Given the description of an element on the screen output the (x, y) to click on. 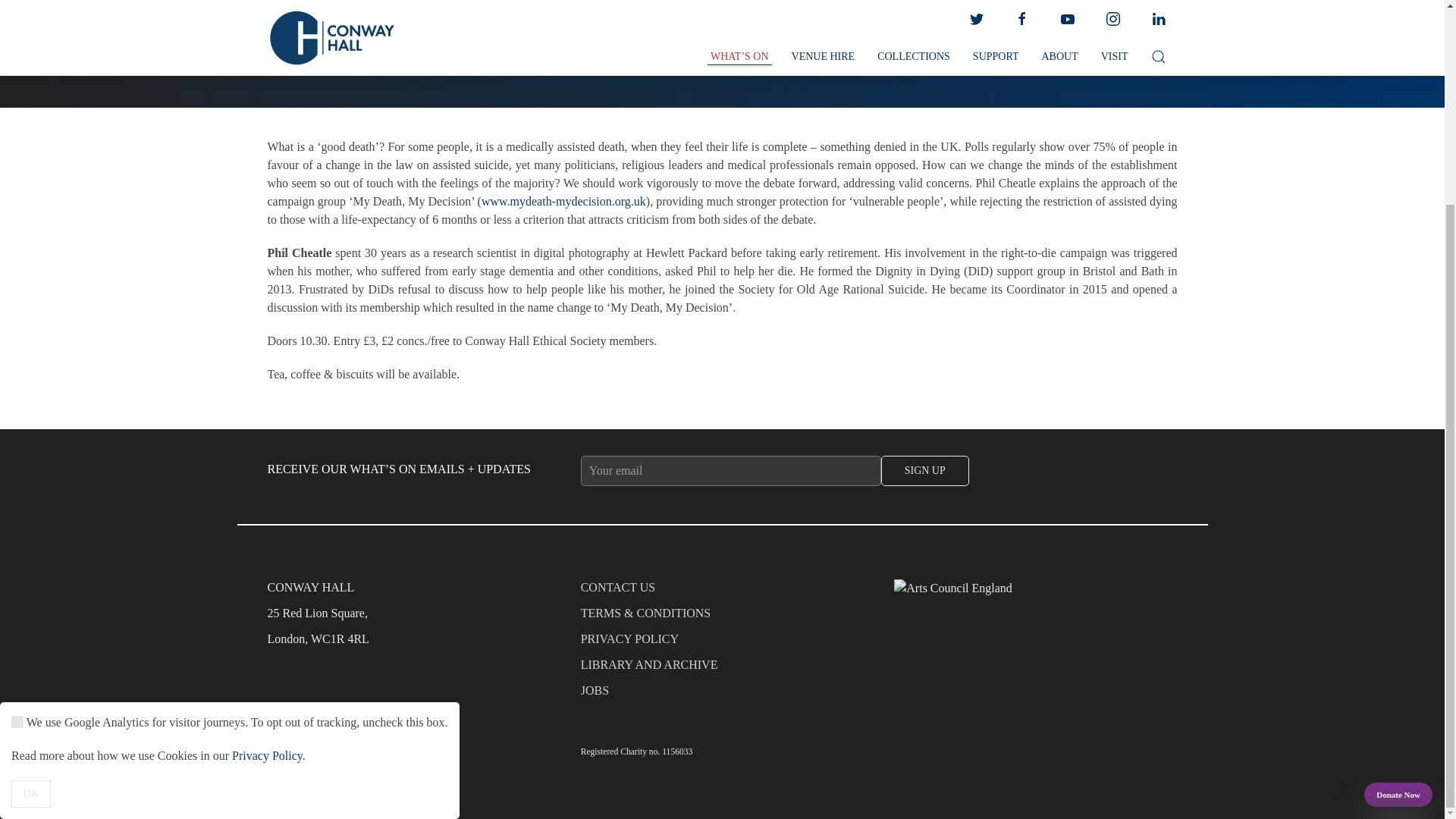
Sign Up (924, 470)
PRIVACY POLICY (722, 642)
CONTACT US (722, 591)
on (17, 459)
Donate Now (1398, 532)
LIBRARY AND ARCHIVE (722, 668)
OK (30, 531)
Privacy Policy (266, 492)
Sign Up (924, 470)
JOBS (722, 694)
www.mydeath-mydecision.org.uk (563, 201)
